Given the description of an element on the screen output the (x, y) to click on. 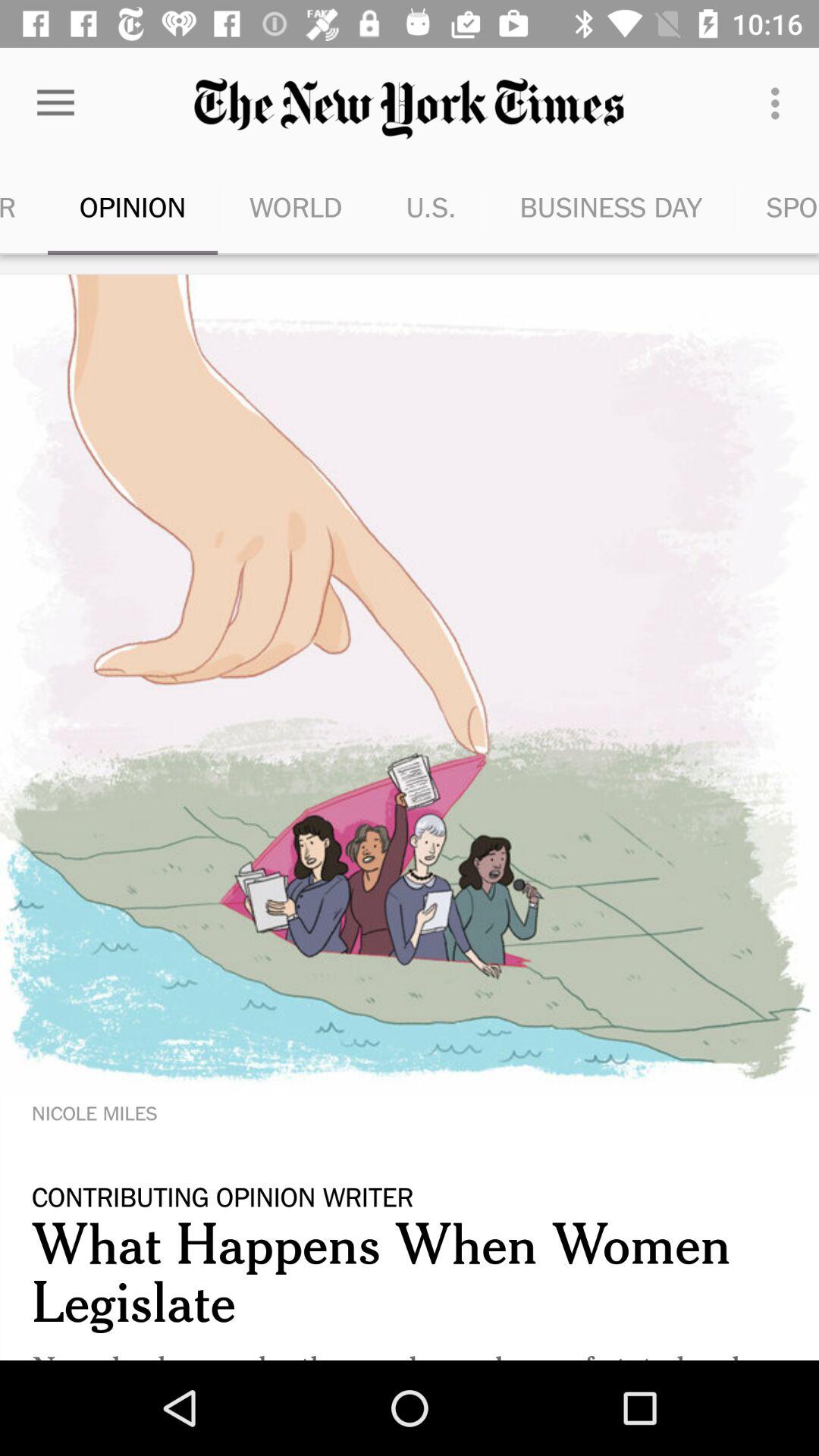
click icon next to the u.s. (295, 206)
